Given the description of an element on the screen output the (x, y) to click on. 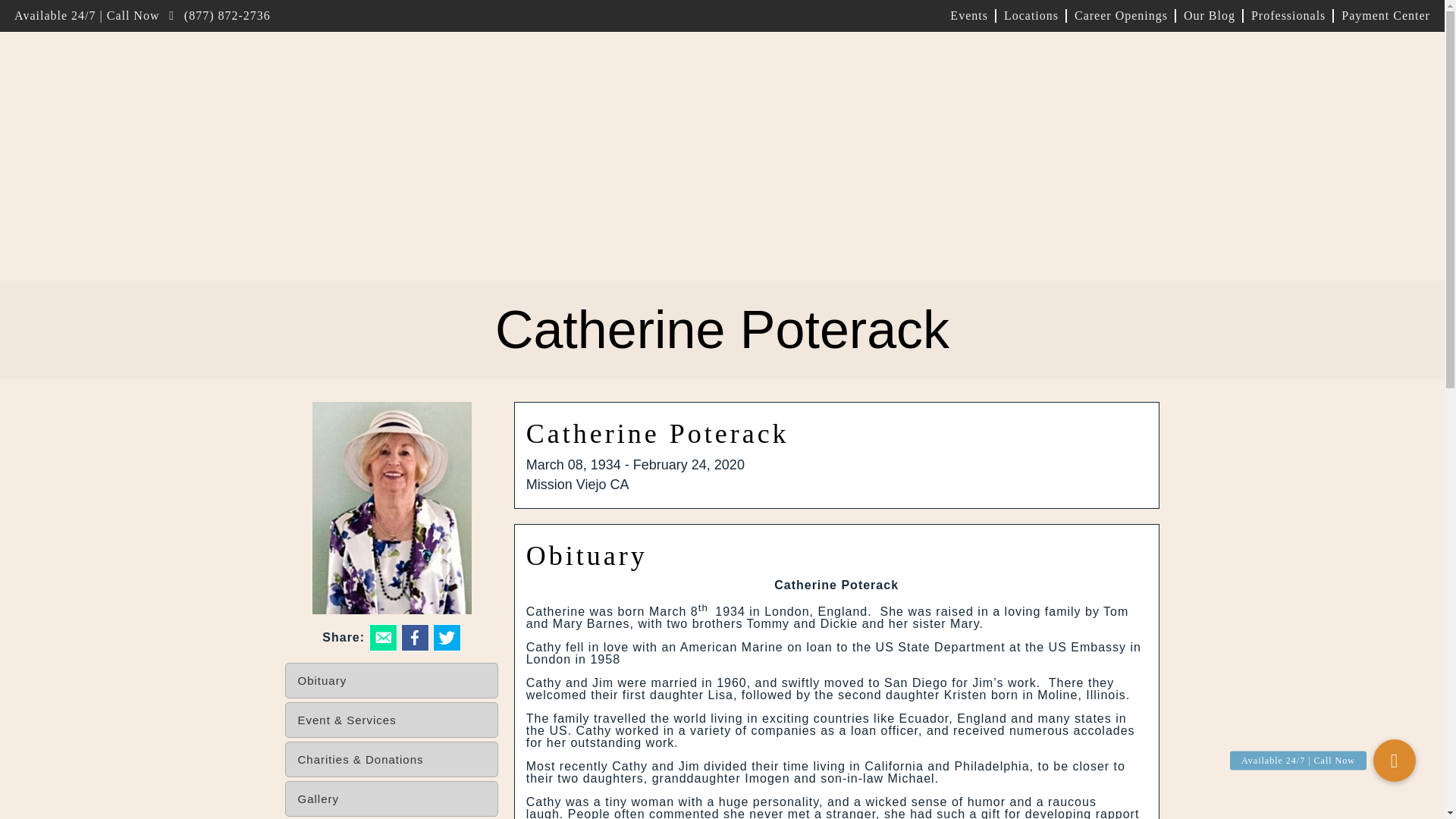
Events (968, 15)
Payment Center (1381, 15)
Locations (1030, 15)
Career Openings (1119, 15)
Our Blog (1208, 15)
Professionals (1288, 15)
